Given the description of an element on the screen output the (x, y) to click on. 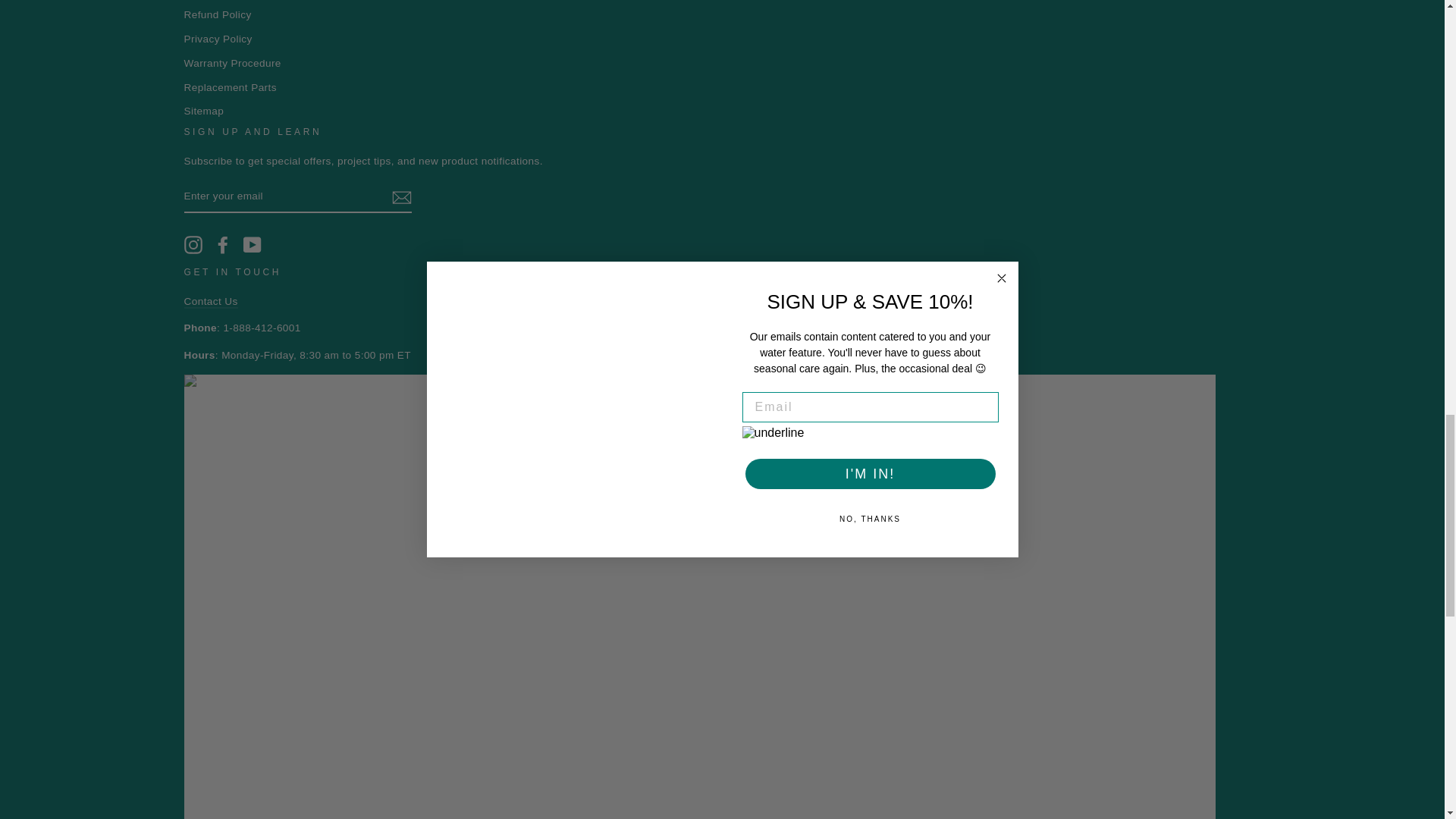
TotalPond on YouTube (251, 244)
TotalPond on Facebook (222, 244)
TotalPond on Instagram (192, 244)
